Given the description of an element on the screen output the (x, y) to click on. 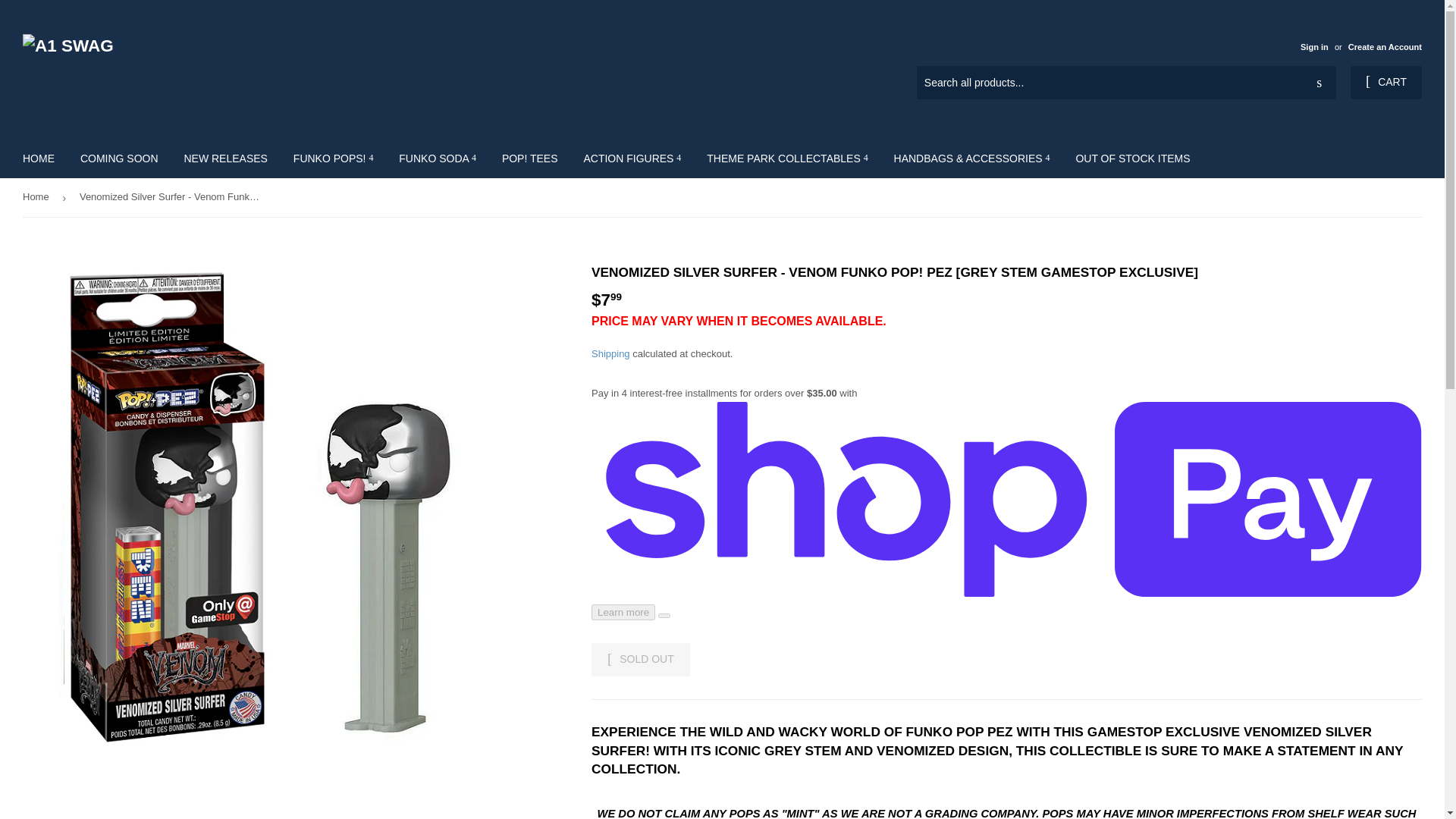
CART (1386, 82)
Search (1318, 83)
Sign in (1313, 46)
Create an Account (1385, 46)
